Given the description of an element on the screen output the (x, y) to click on. 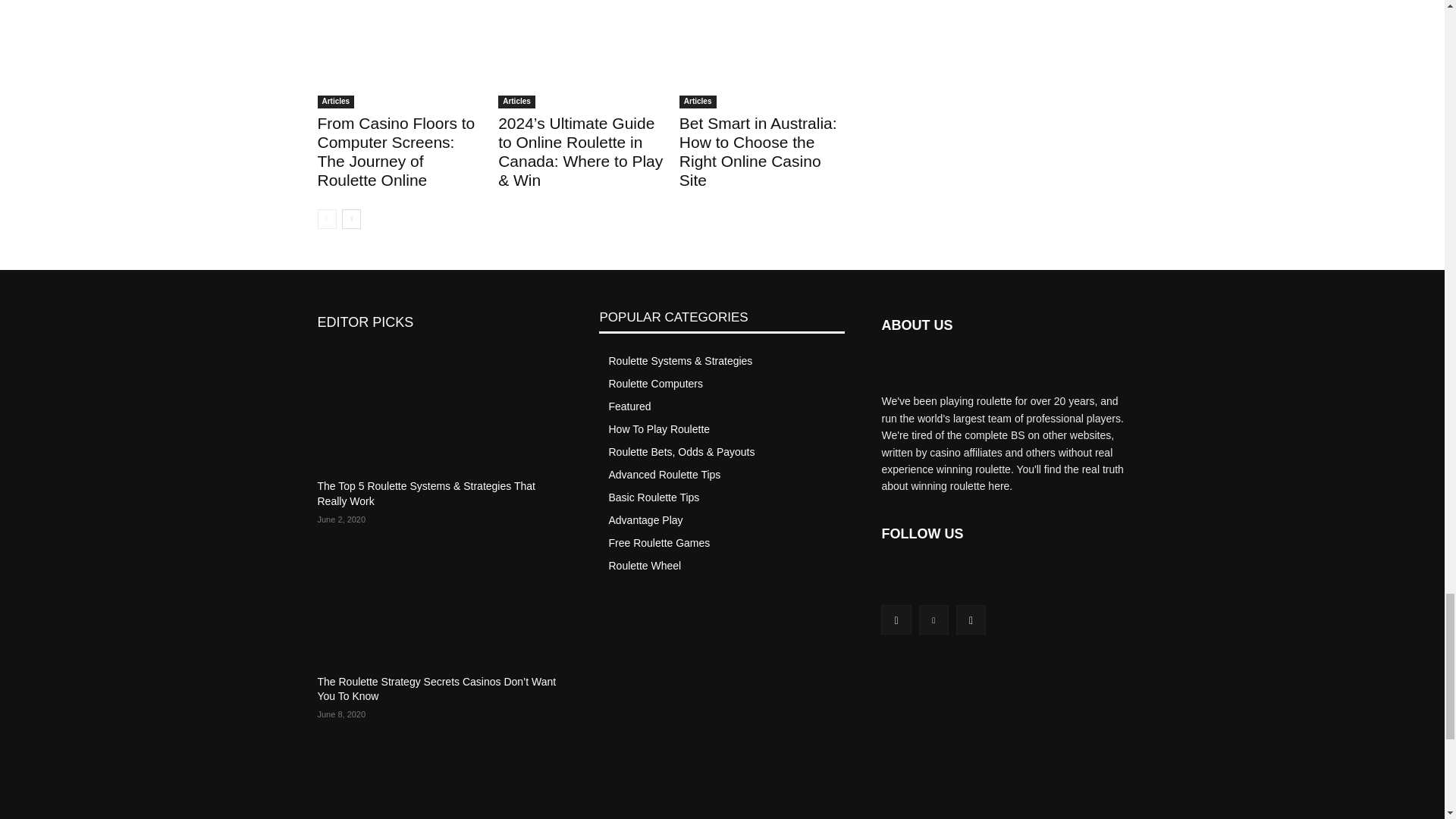
Articles (516, 101)
Articles (335, 101)
